Given the description of an element on the screen output the (x, y) to click on. 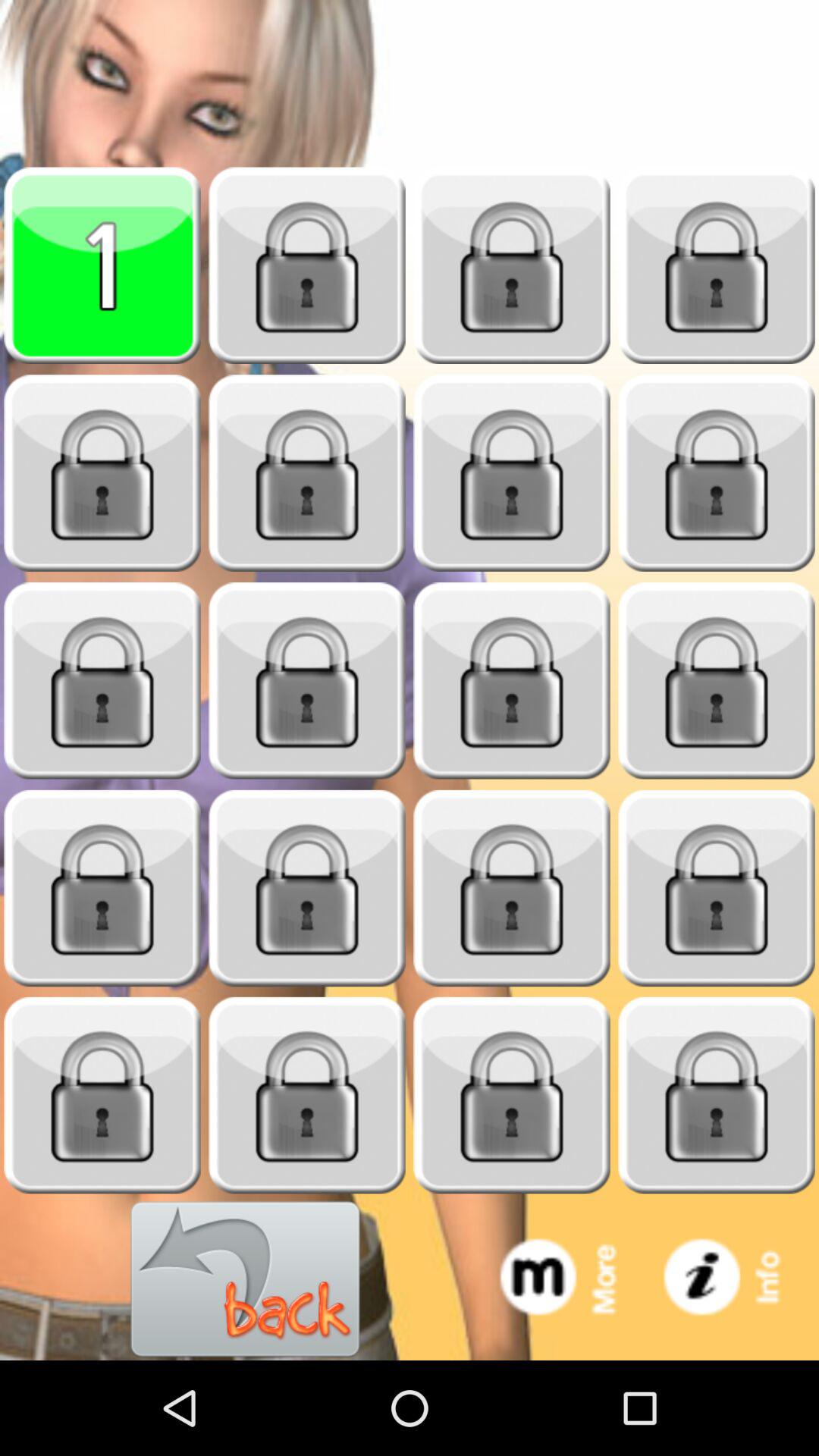
unlock the option (511, 473)
